Given the description of an element on the screen output the (x, y) to click on. 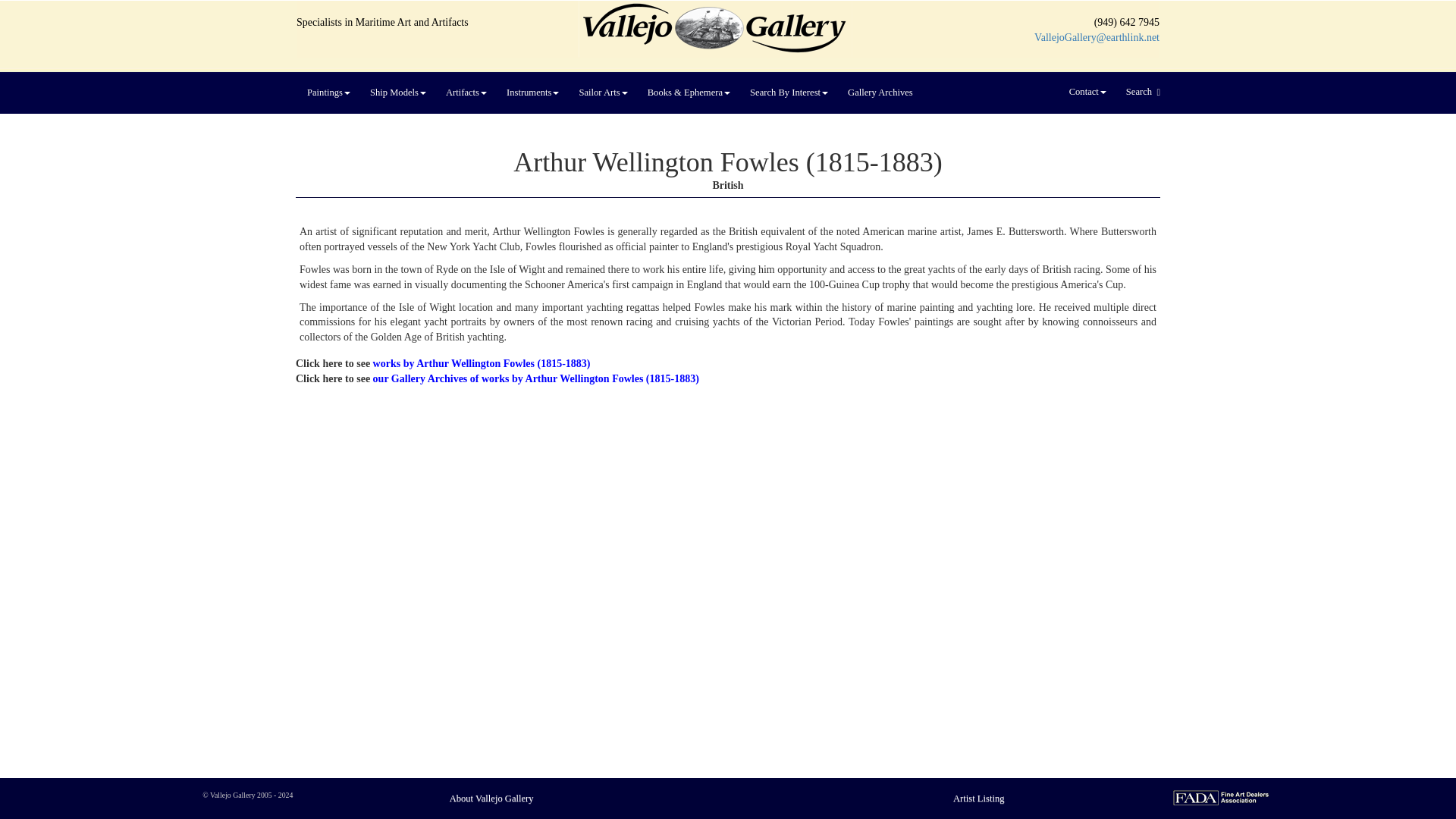
Ship Models (397, 92)
Paintings (328, 92)
Artifacts (465, 92)
